Given the description of an element on the screen output the (x, y) to click on. 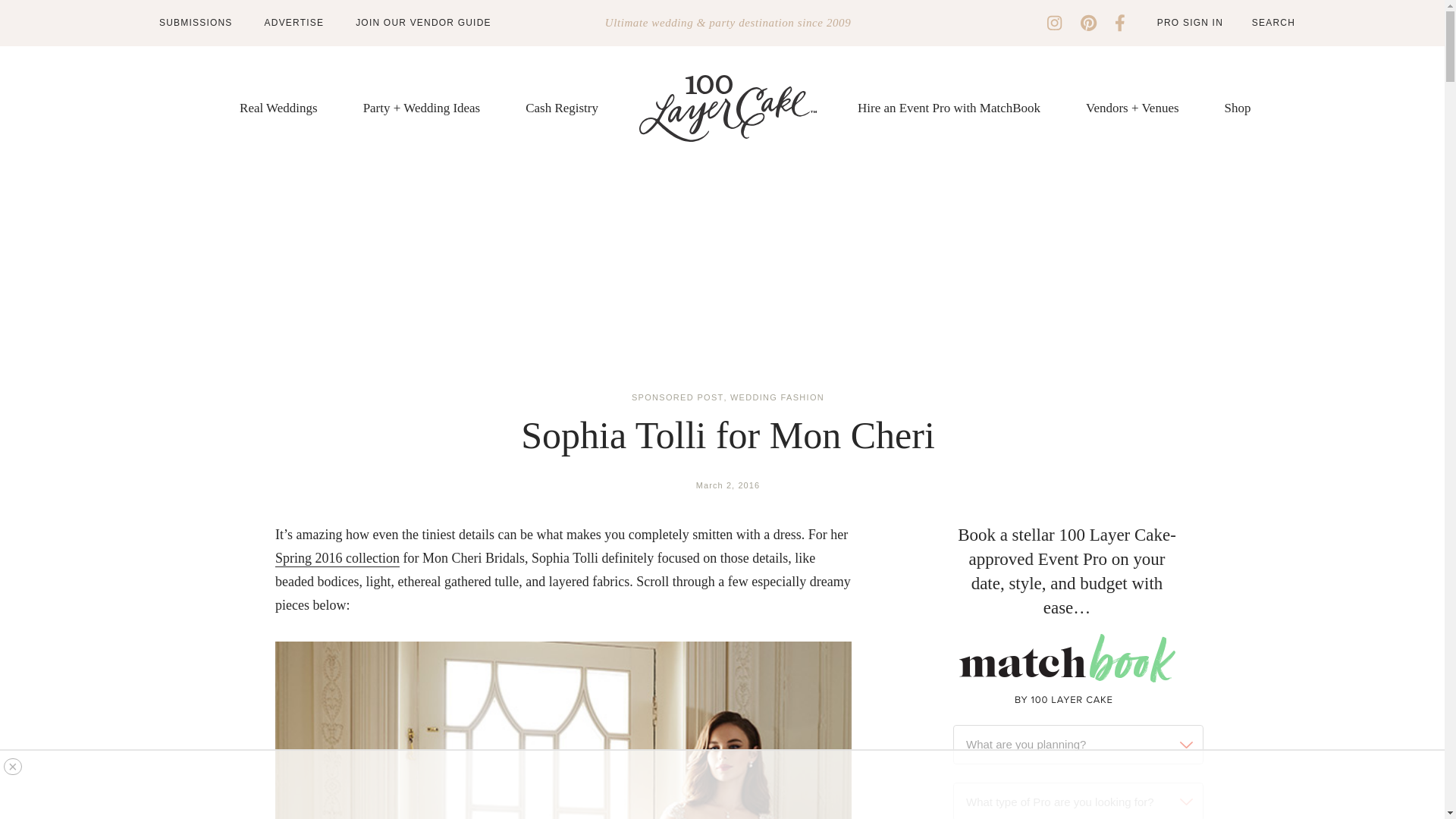
Hire an Event Pro with MatchBook (949, 107)
Search (1262, 23)
Real Weddings (278, 107)
ADVERTISE (294, 22)
SPONSORED POST (677, 397)
Shop (1237, 107)
Cash Registry (561, 107)
JOIN OUR VENDOR GUIDE (423, 22)
Search (1262, 23)
Spring 2016 collection (336, 557)
PRO SIGN IN (1190, 22)
WEDDING FASHION (777, 397)
SUBMISSIONS (195, 22)
